Given the description of an element on the screen output the (x, y) to click on. 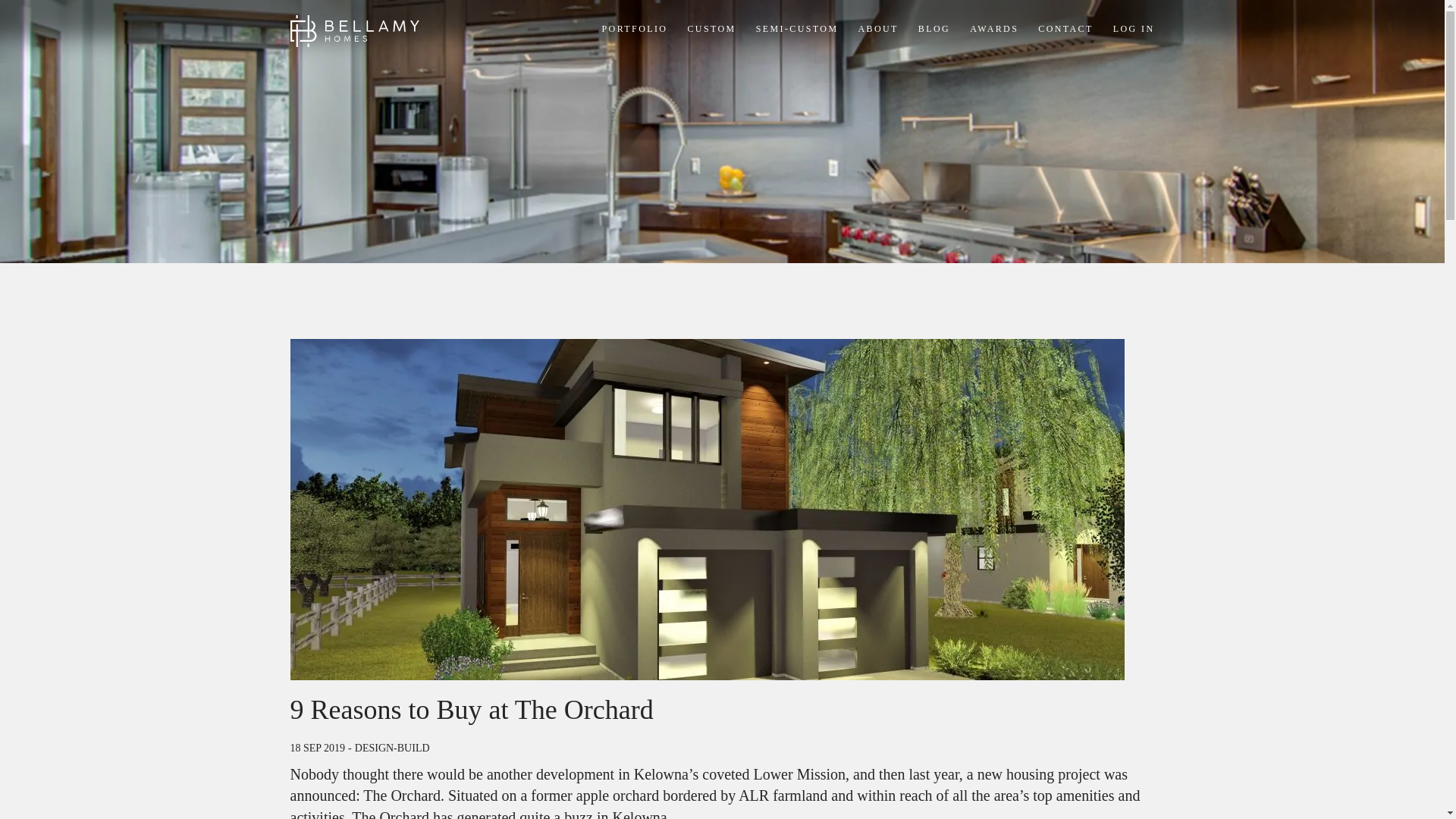
DESIGN-BUILD (392, 747)
CONTACT (1065, 29)
SEMI-CUSTOM (796, 29)
PORTFOLIO (635, 29)
BLOG (934, 29)
AWARDS (993, 29)
CUSTOM (711, 29)
LOG IN (1133, 29)
ABOUT (878, 29)
